Given the description of an element on the screen output the (x, y) to click on. 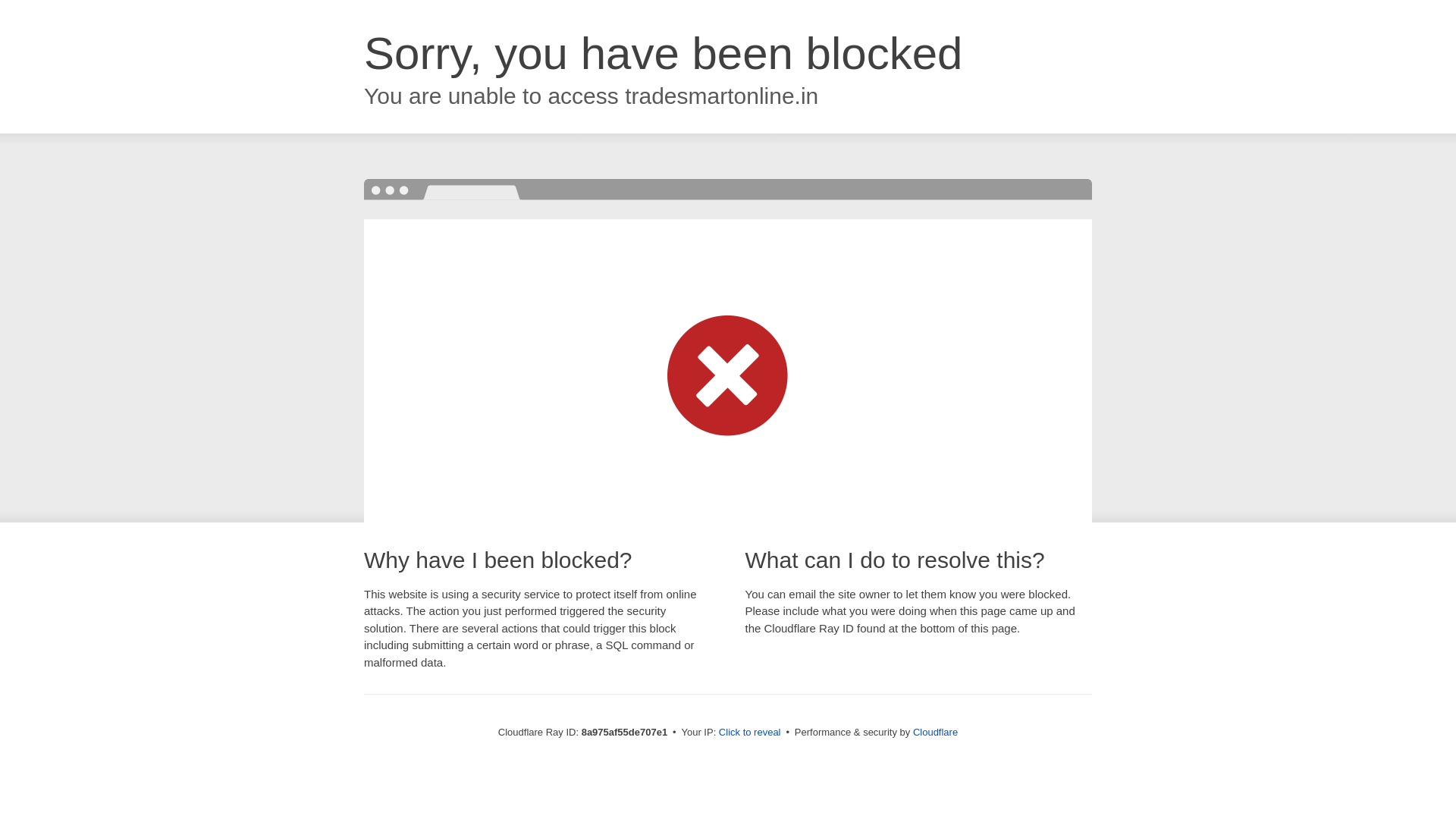
Cloudflare (935, 731)
Click to reveal (749, 732)
